Given the description of an element on the screen output the (x, y) to click on. 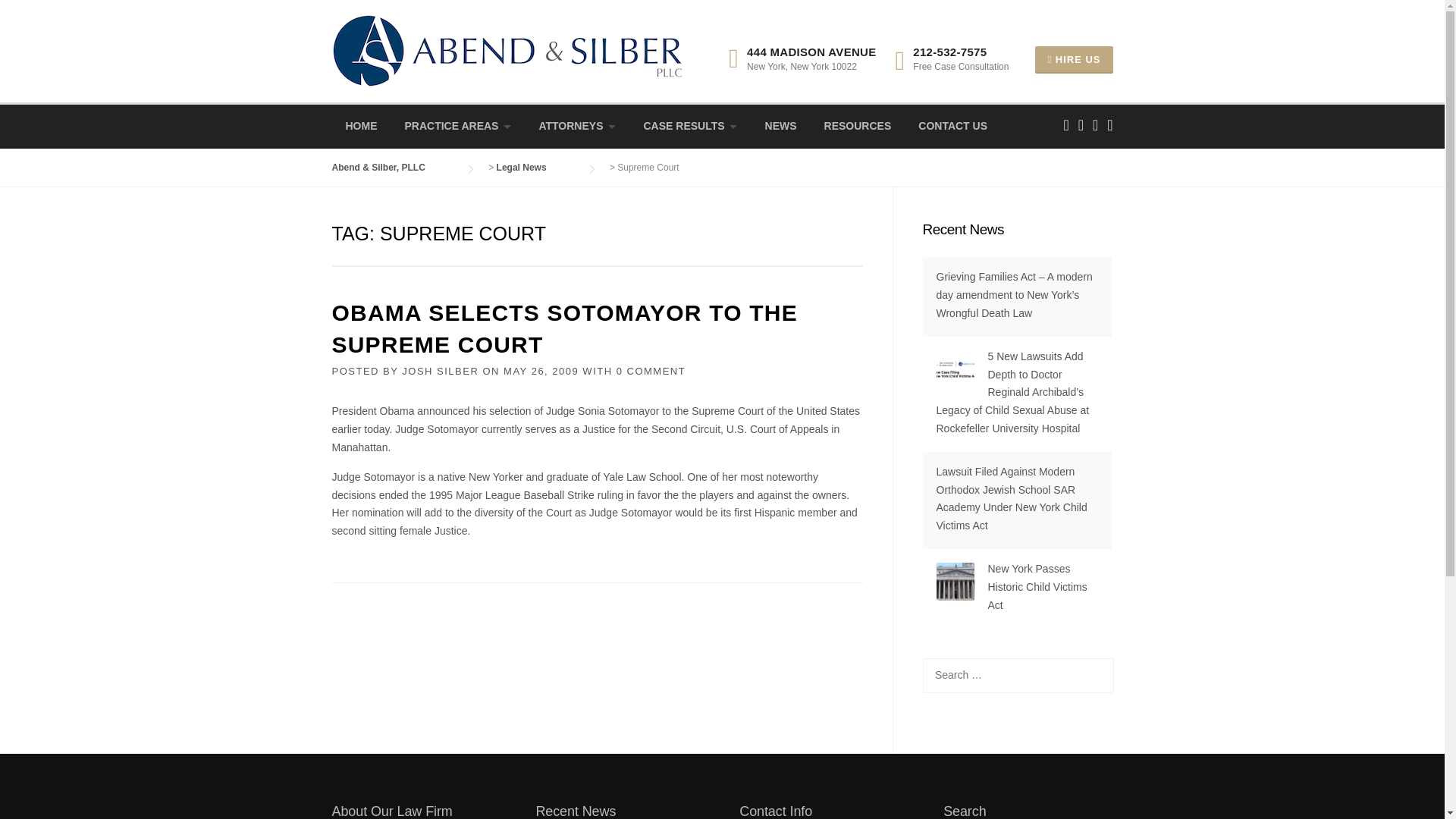
CONTACT US (952, 126)
New York Passes Historic Child Victims Act (1036, 586)
OBAMA SELECTS SOTOMAYOR TO THE SUPREME COURT (564, 328)
0 COMMENT (650, 370)
MAY 26, 2009 (540, 370)
New York Passes Historic Child Victims Act (1036, 586)
HIRE US (1073, 59)
ATTORNEYS (576, 126)
PRACTICE AREAS (458, 126)
Go to Legal News. (536, 167)
CASE RESULTS (689, 126)
HOME (361, 126)
JOSH SILBER (440, 370)
